Given the description of an element on the screen output the (x, y) to click on. 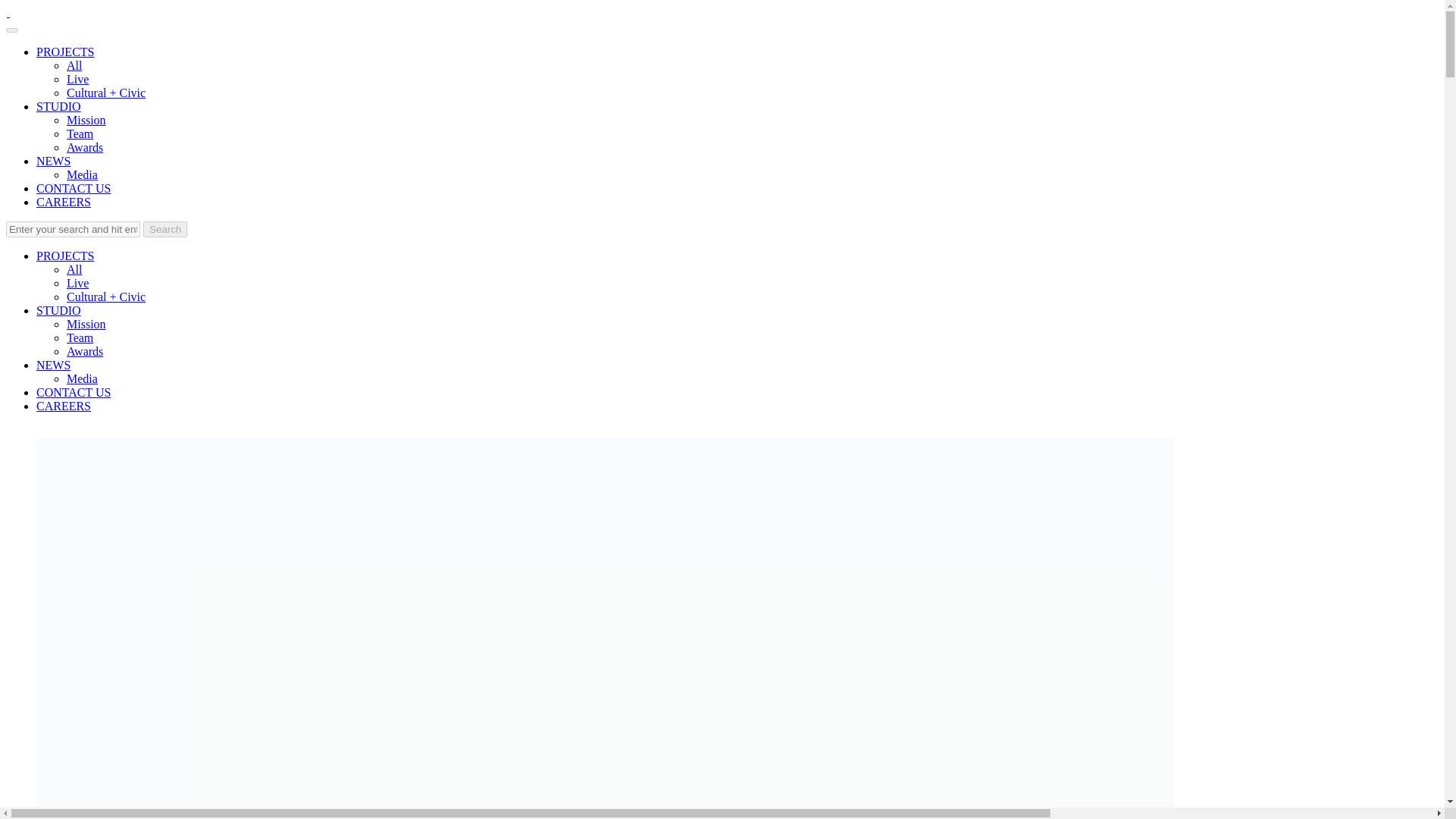
NEWS (52, 160)
STUDIO (58, 106)
Live (77, 78)
PROJECTS (65, 51)
CONTACT US (73, 391)
Team (79, 133)
STUDIO (58, 309)
NEWS (52, 364)
CONTACT US (73, 187)
Awards (84, 146)
Team (79, 337)
Mission (86, 119)
Media (81, 174)
Live (77, 282)
PROJECTS (65, 255)
